Given the description of an element on the screen output the (x, y) to click on. 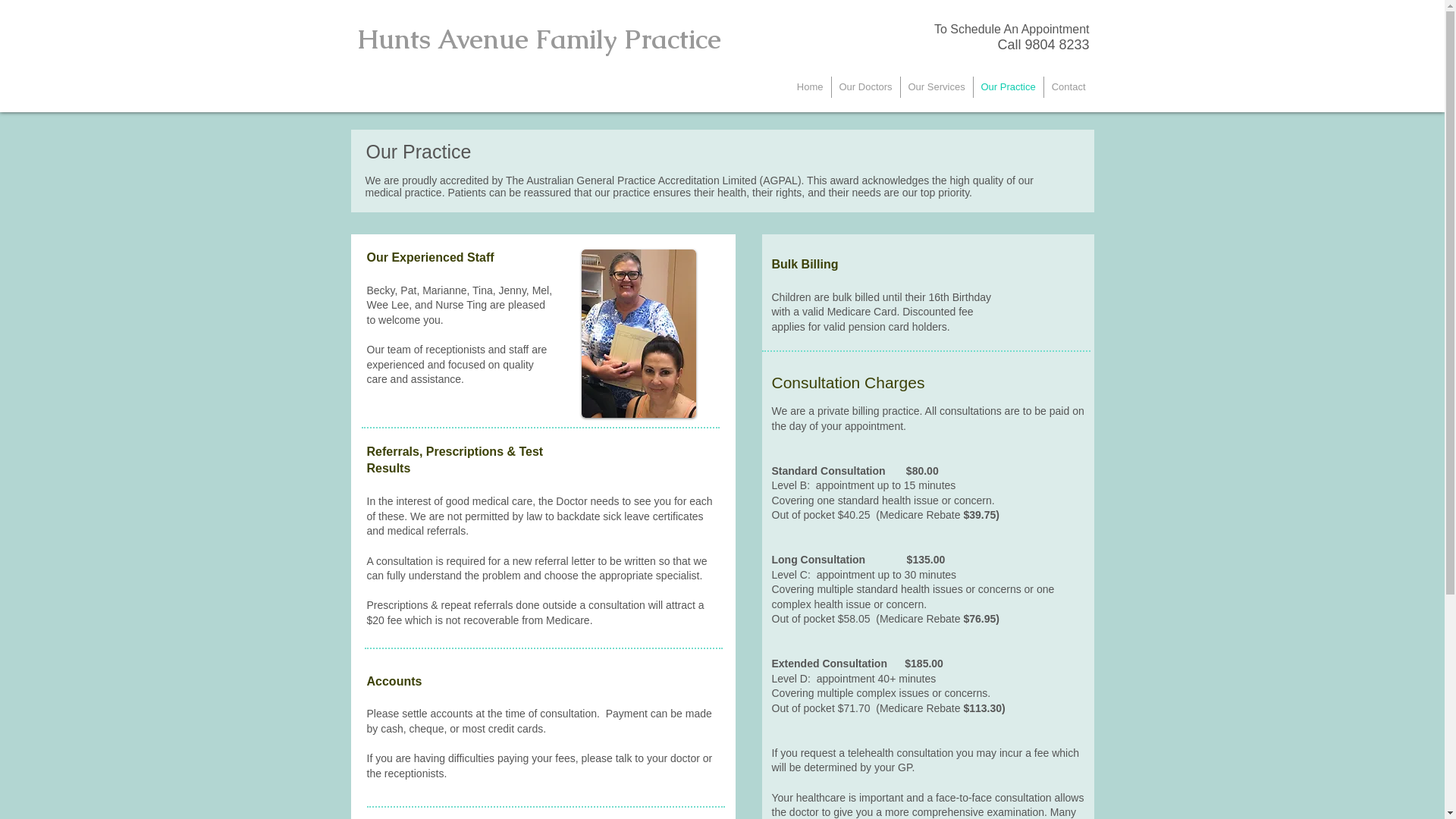
Our Practice Element type: text (1008, 86)
Our Doctors Element type: text (865, 86)
Our Services Element type: text (936, 86)
Contact Element type: text (1067, 86)
IMG_6388.JPG Element type: hover (637, 333)
Hunts Avenue  Element type: text (445, 38)
Home Element type: text (809, 86)
